Given the description of an element on the screen output the (x, y) to click on. 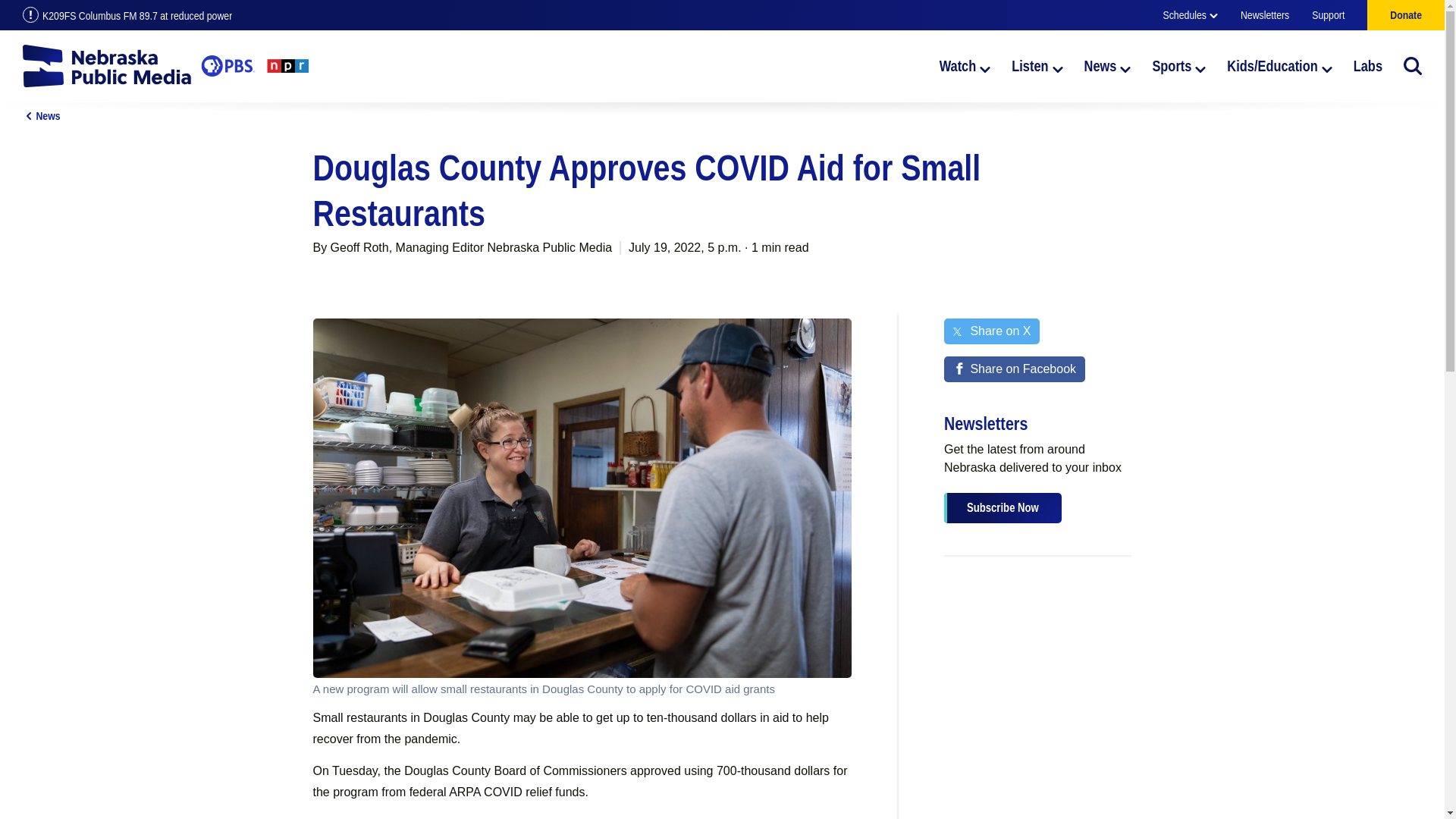
Listen (1036, 65)
News (1107, 65)
Watch (965, 65)
K209FS Columbus FM 89.7 at reduced power (361, 15)
Sports (1178, 65)
Support (1327, 15)
Schedules (1190, 15)
3rd party ad content (1037, 666)
Newsletters (1264, 15)
